Given the description of an element on the screen output the (x, y) to click on. 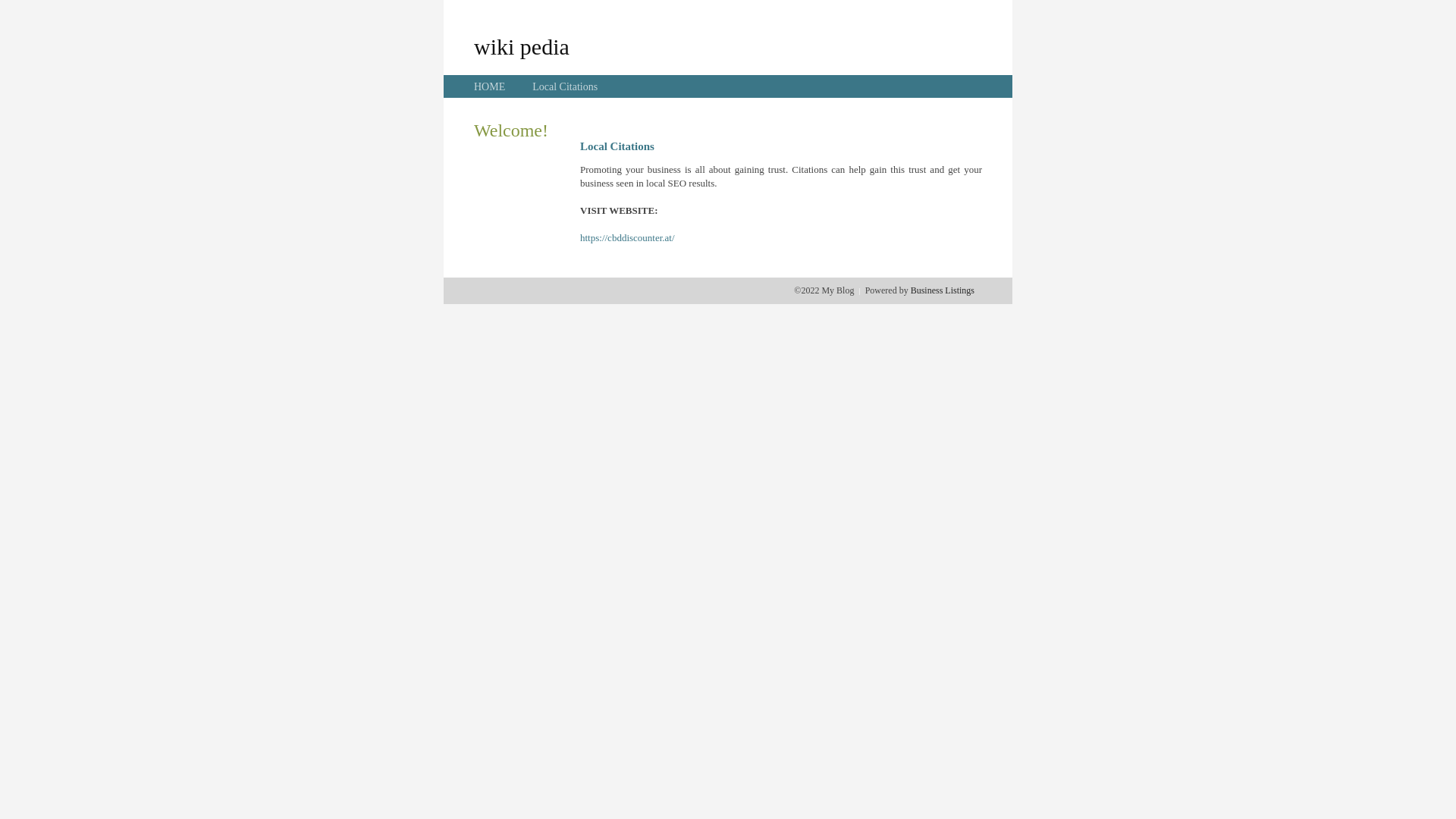
Local Citations Element type: text (564, 86)
HOME Element type: text (489, 86)
Business Listings Element type: text (942, 290)
wiki pedia Element type: text (521, 46)
https://cbddiscounter.at/ Element type: text (627, 237)
